Given the description of an element on the screen output the (x, y) to click on. 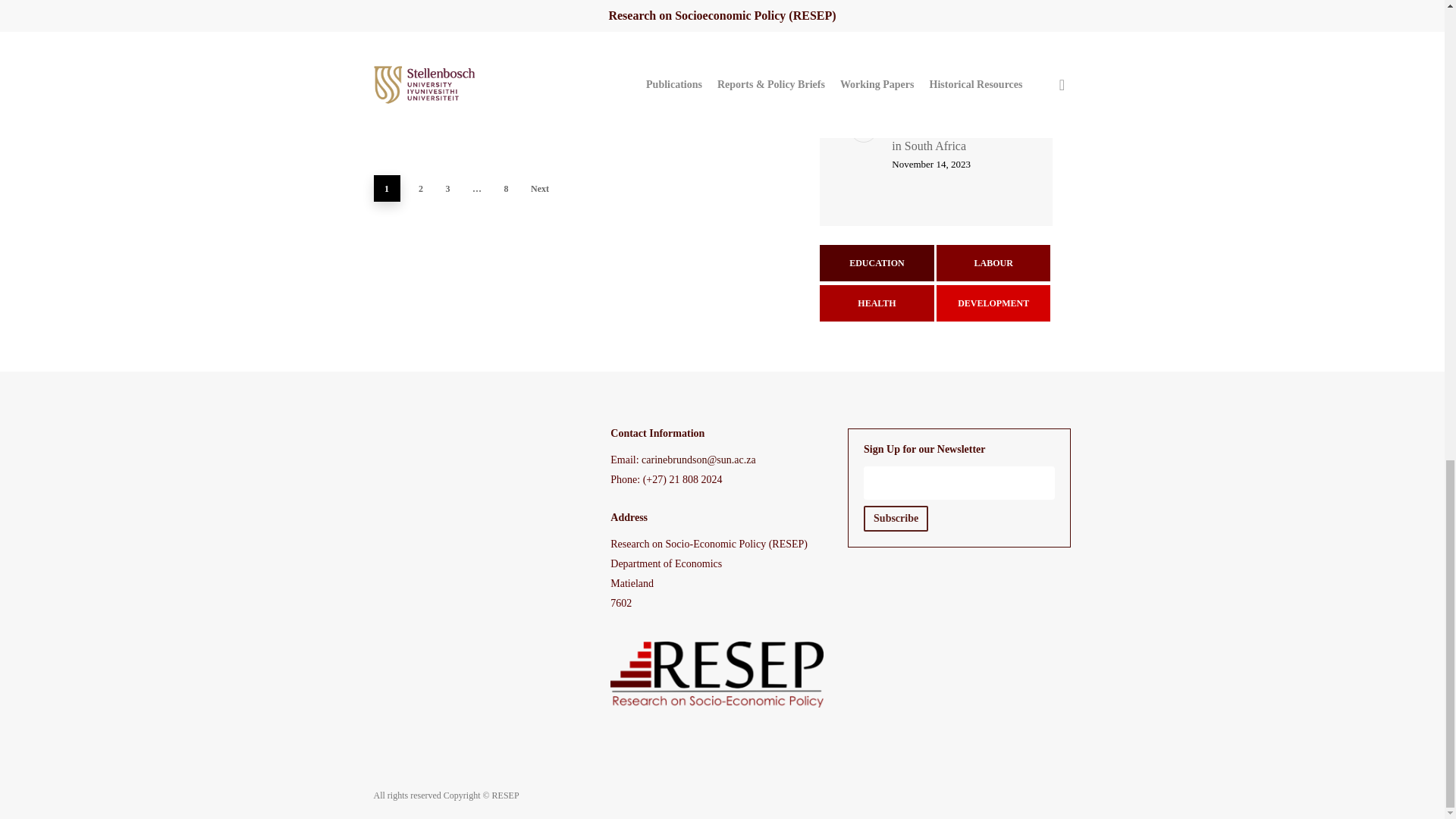
Subscribe (895, 518)
